Given the description of an element on the screen output the (x, y) to click on. 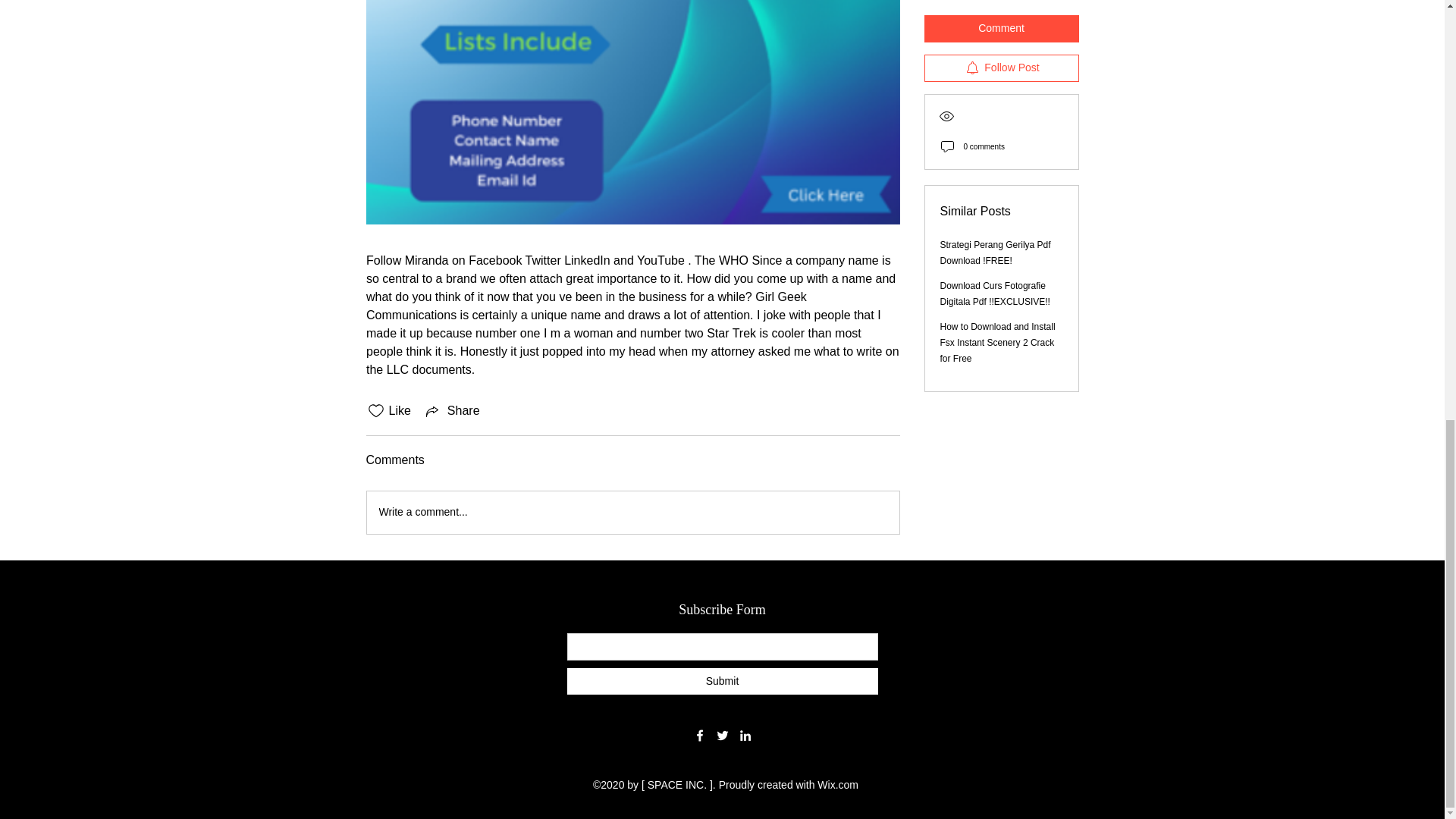
Submit (722, 681)
Share (451, 411)
Write a comment... (632, 512)
